Given the description of an element on the screen output the (x, y) to click on. 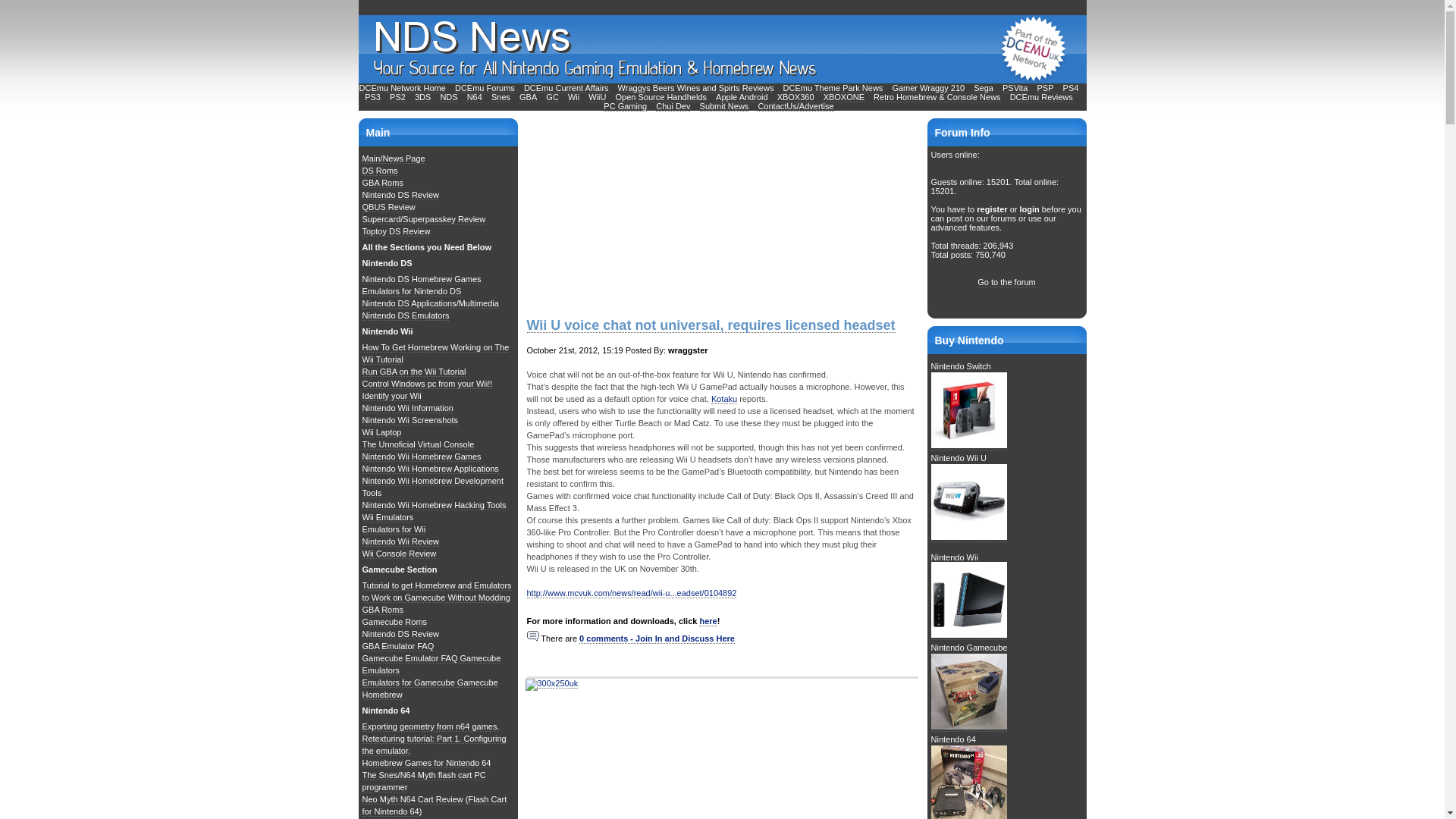
Emulators for Nintendo DS (411, 291)
XBOX360 (795, 97)
Wraggys Beers Wines and Spirts Reviews (695, 88)
GC (552, 97)
DS Roms (379, 171)
PS4 (1070, 88)
DCEmu Current Affairs (567, 88)
Nintendo DS Review (400, 194)
GBA Roms (382, 183)
Sega (983, 88)
